Given the description of an element on the screen output the (x, y) to click on. 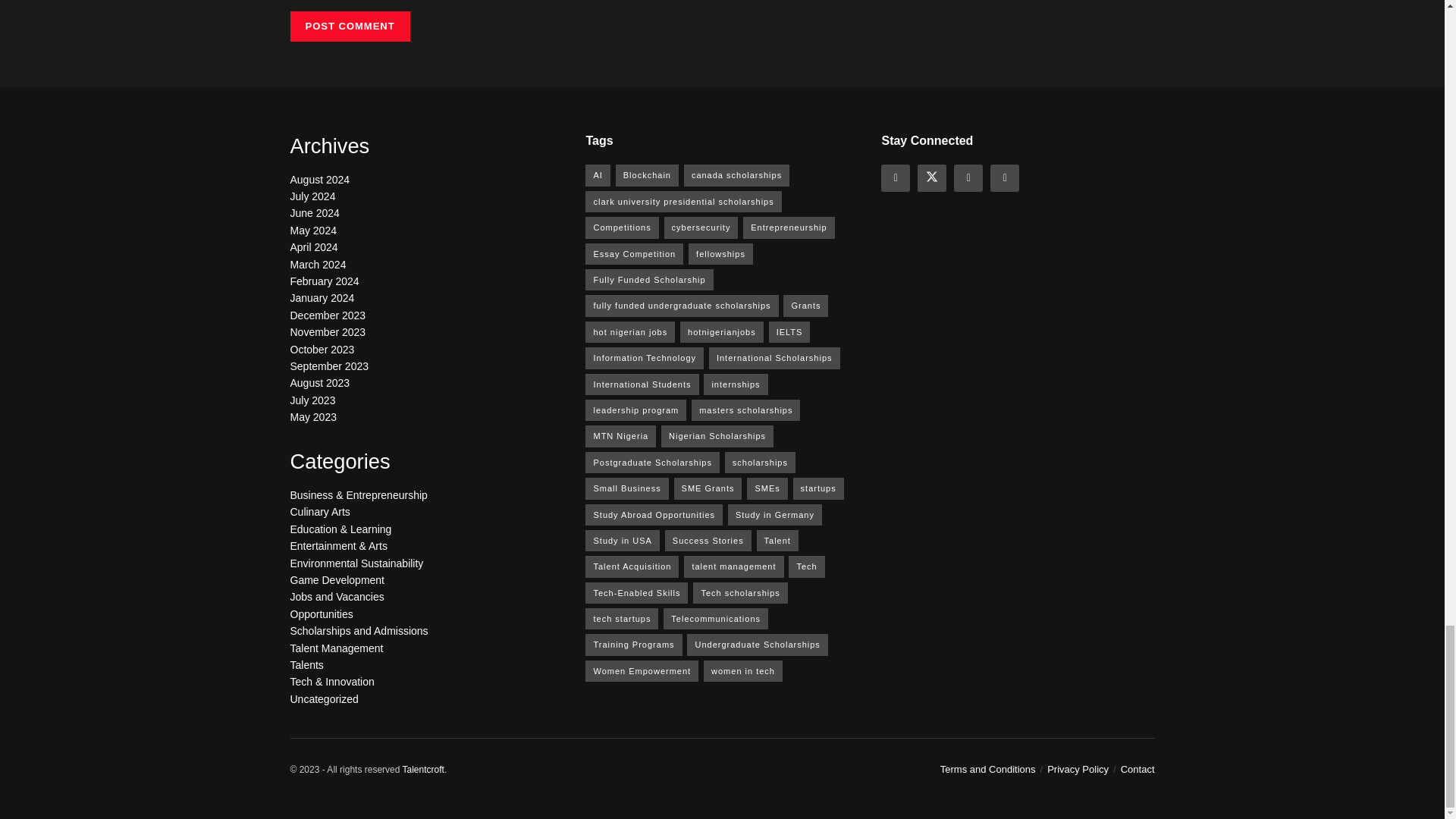
Talentcroft (423, 769)
Post Comment (349, 26)
